Given the description of an element on the screen output the (x, y) to click on. 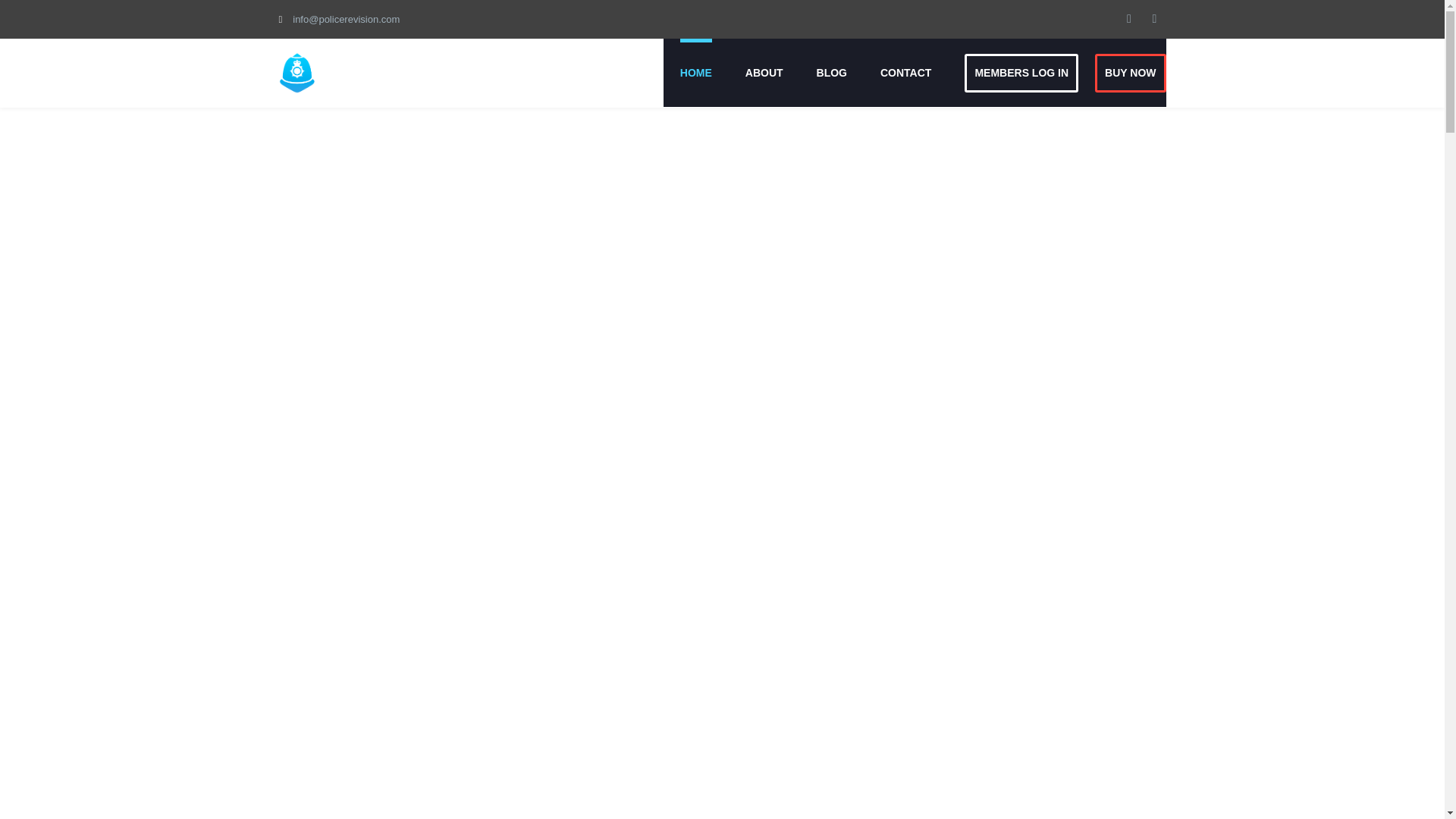
BUY NOW (1130, 73)
Police Revision (354, 73)
MEMBERS LOG IN (1020, 73)
